Given the description of an element on the screen output the (x, y) to click on. 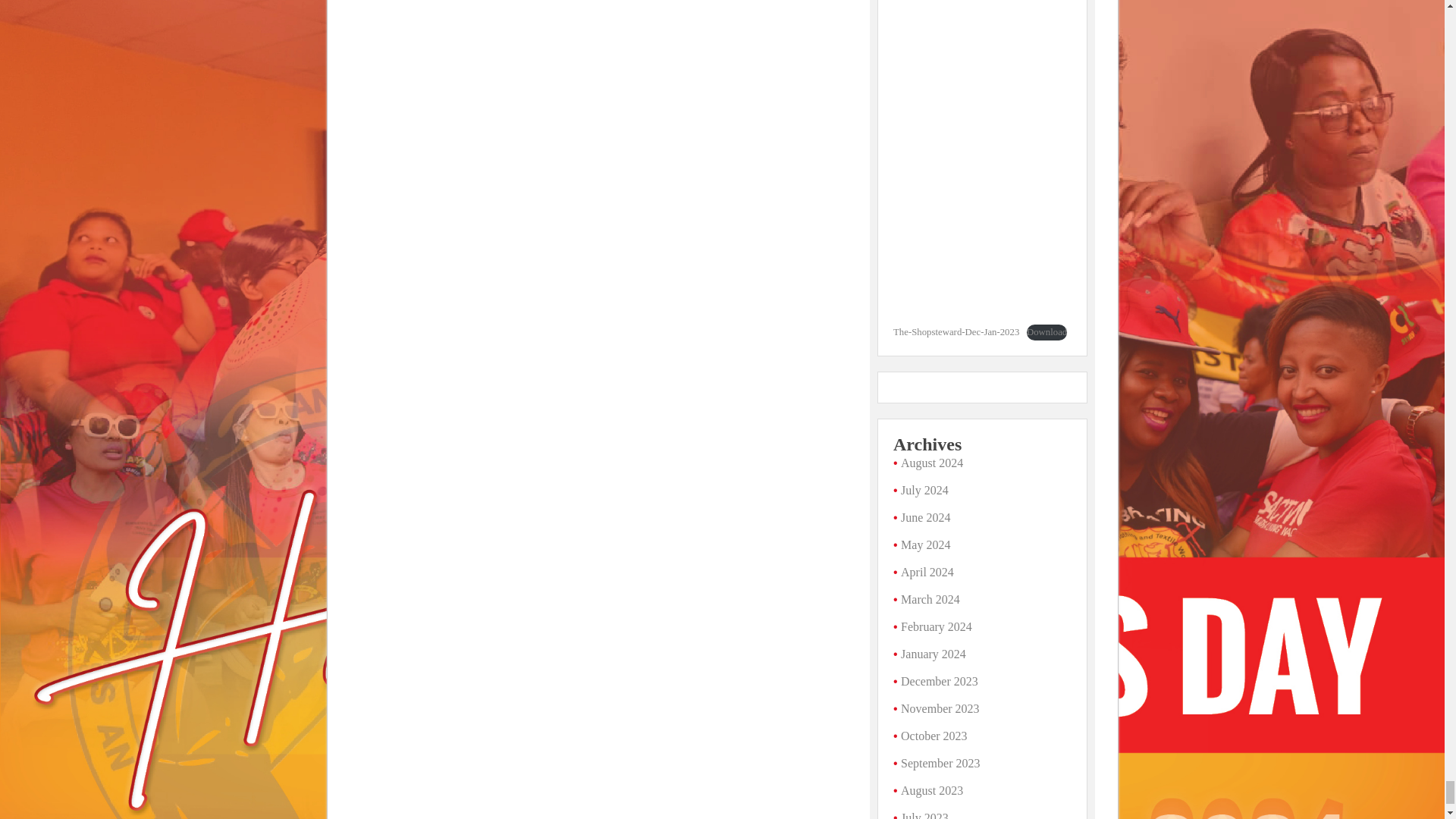
October 2023 (934, 735)
May 2024 (925, 544)
April 2024 (927, 571)
August 2023 (931, 789)
August 2024 (931, 462)
Download (1046, 332)
June 2024 (925, 517)
March 2024 (930, 599)
February 2024 (936, 626)
The-Shopsteward-Dec-Jan-2023 (956, 331)
